Given the description of an element on the screen output the (x, y) to click on. 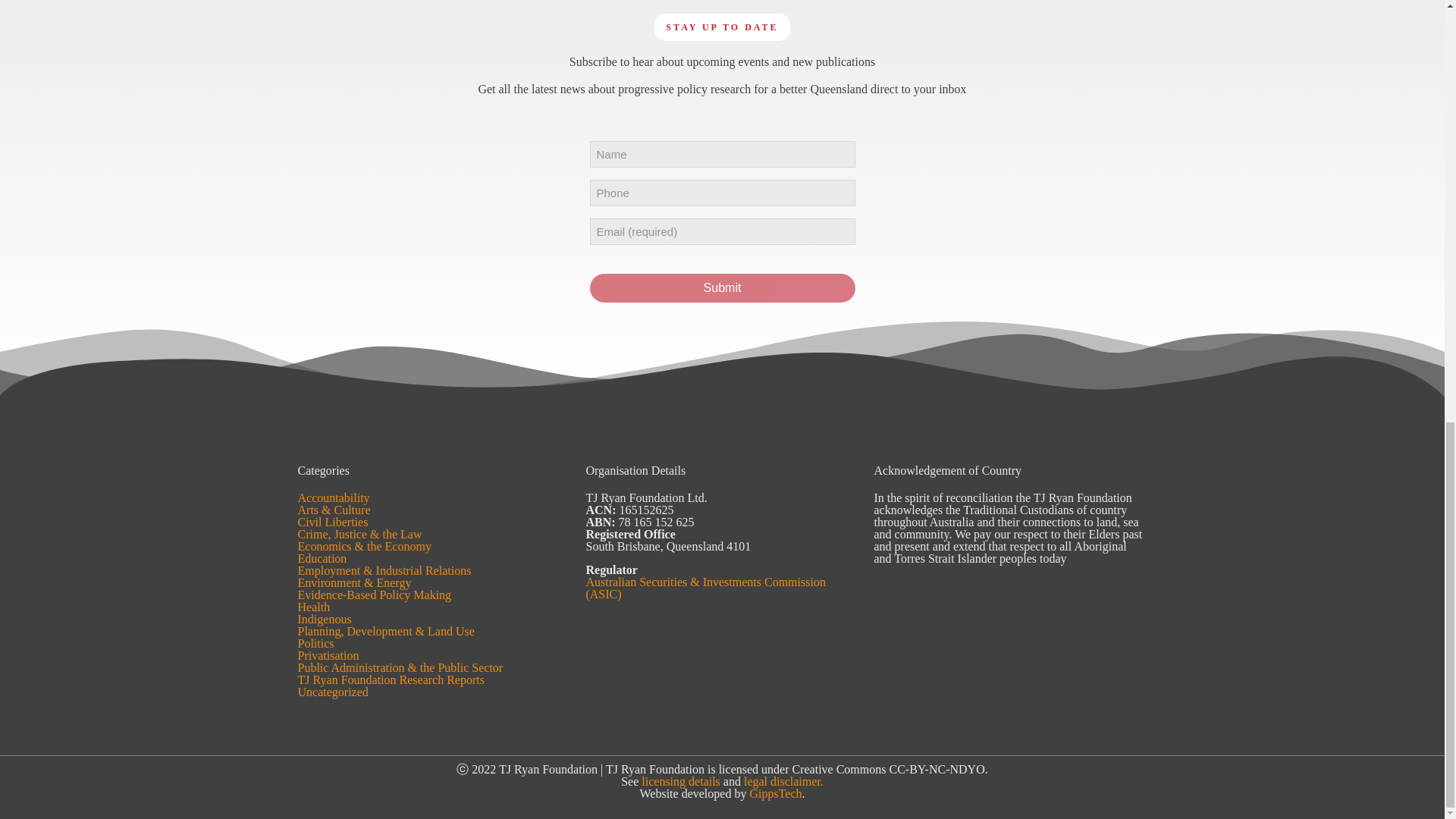
Submit (722, 287)
